Given the description of an element on the screen output the (x, y) to click on. 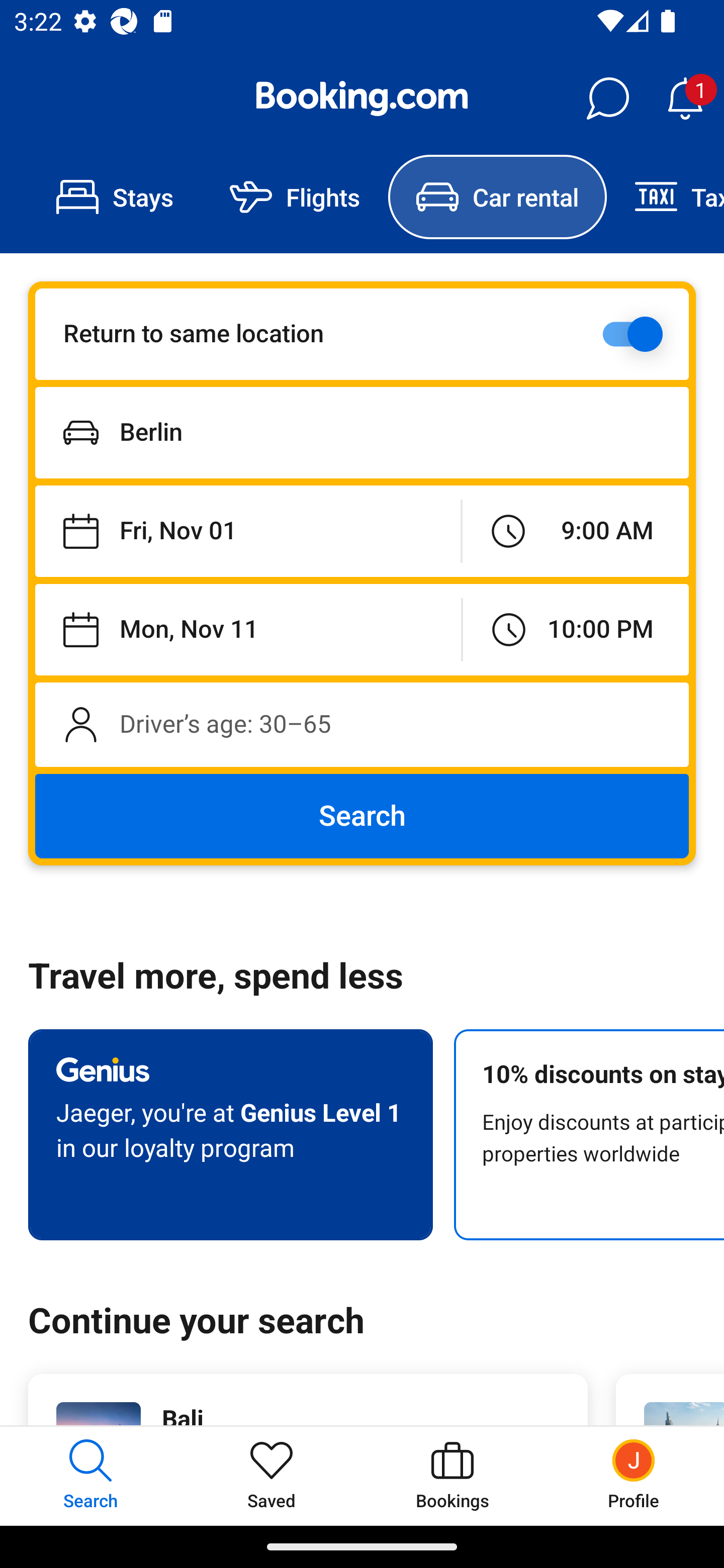
Messages (607, 98)
Notifications (685, 98)
Stays (114, 197)
Flights (294, 197)
Car rental (497, 197)
Taxi (665, 197)
Pick-up location: Text(name=Berlin) (361, 432)
Pick-up date: 2024-11-01 (247, 531)
Pick-up time: 09:00:00.000 (575, 531)
Drop-off date: 2024-11-11 (248, 629)
Drop-off time: 22:00:00.000 (575, 629)
Enter the driver's age (361, 724)
Search (361, 815)
Saved (271, 1475)
Bookings (452, 1475)
Profile (633, 1475)
